Given the description of an element on the screen output the (x, y) to click on. 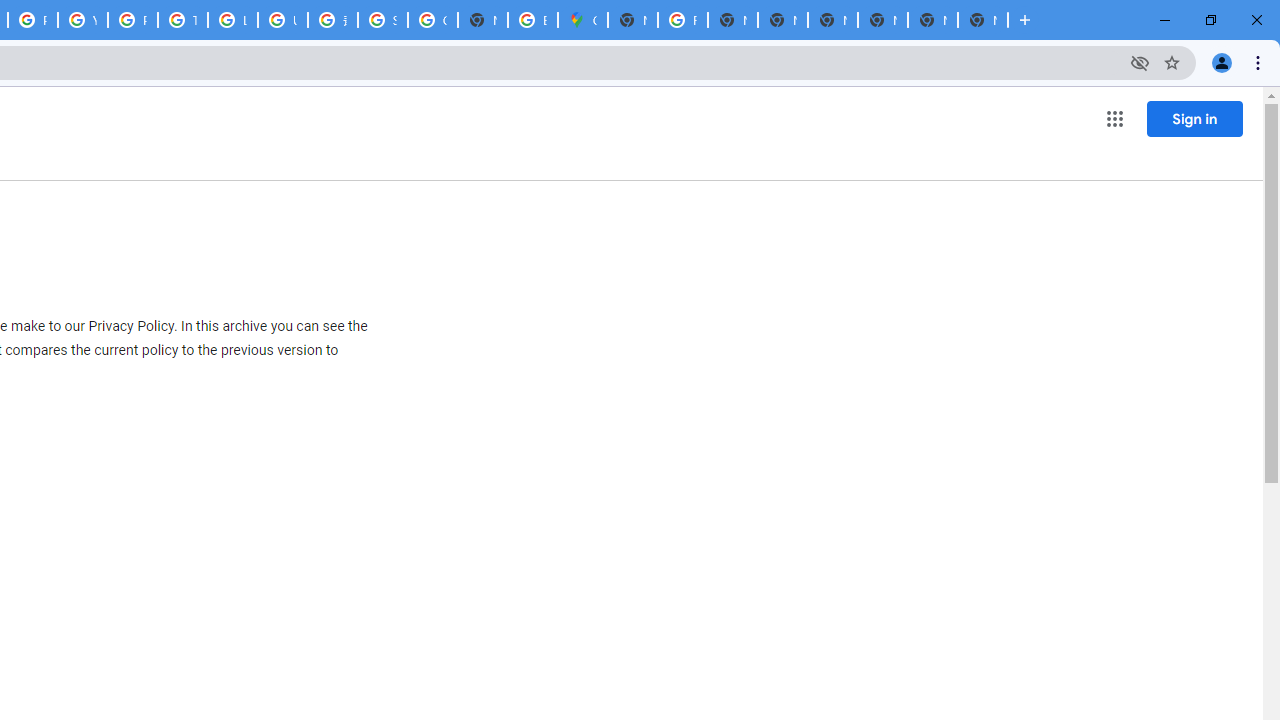
YouTube (82, 20)
Tips & tricks for Chrome - Google Chrome Help (182, 20)
New Tab (882, 20)
New Tab (982, 20)
